Given the description of an element on the screen output the (x, y) to click on. 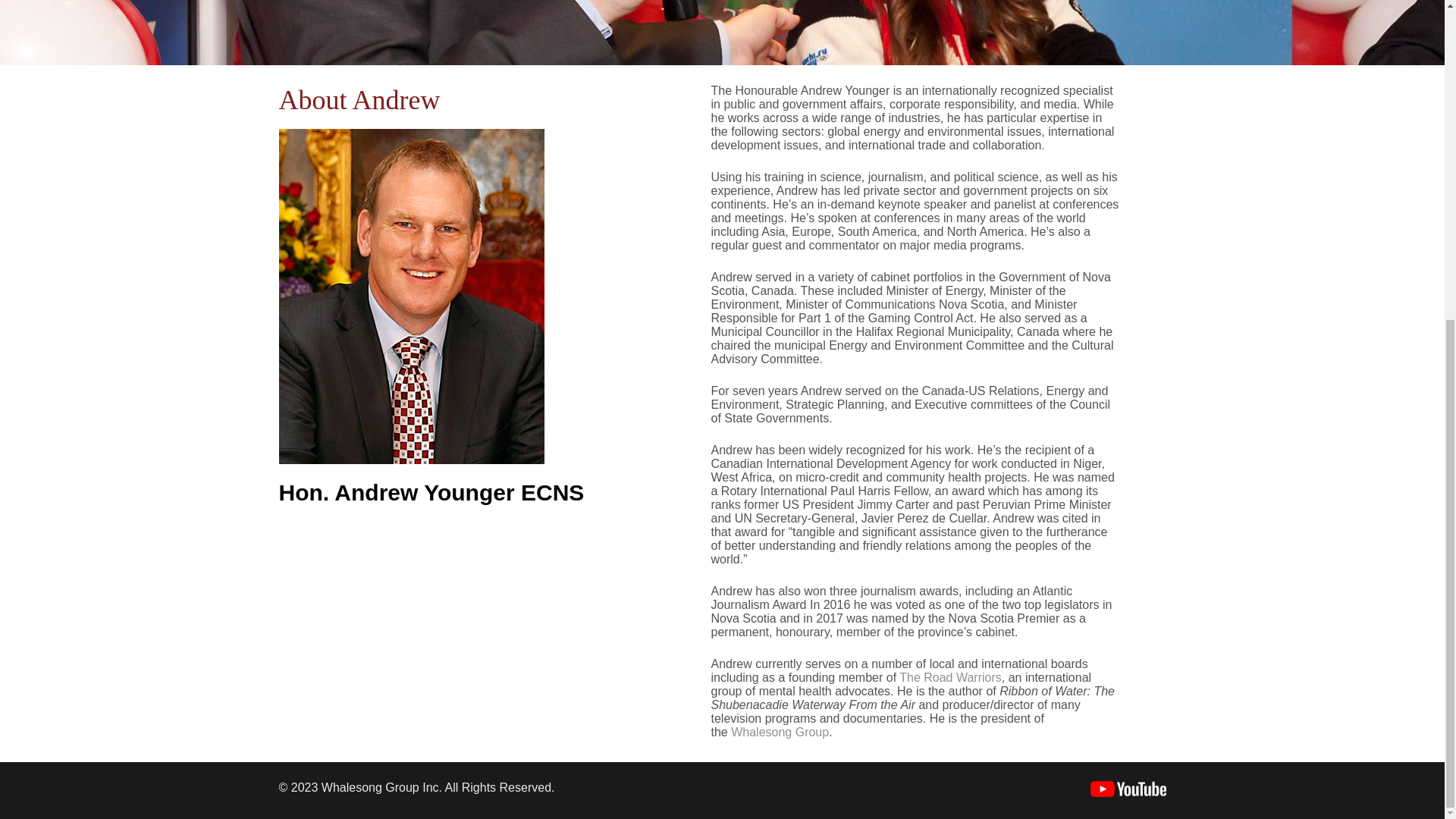
The Road Warriors (950, 676)
Whalesong Group (779, 731)
Hon. Andrew Younger ECNS (432, 492)
